Given the description of an element on the screen output the (x, y) to click on. 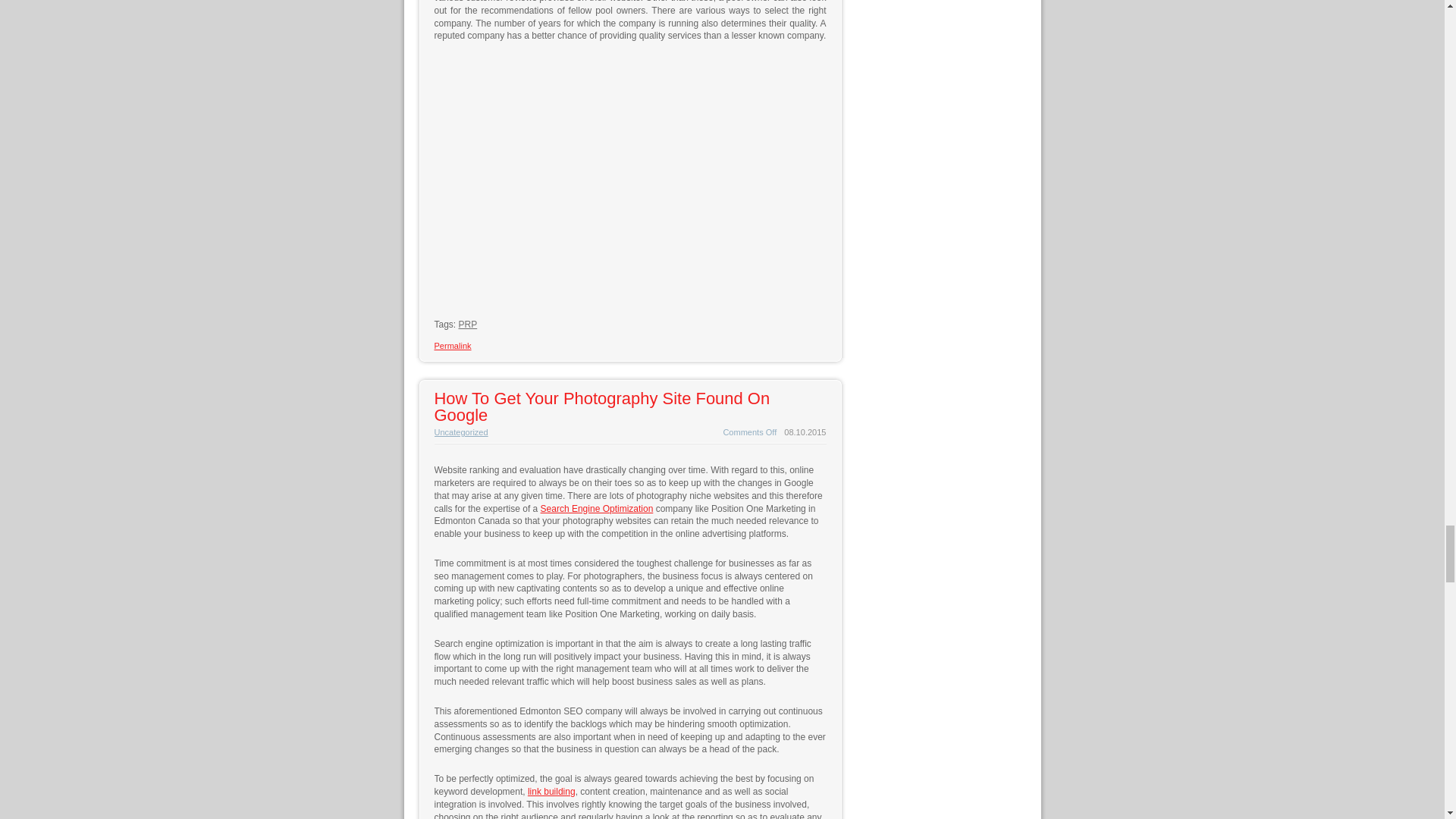
PRP (467, 324)
How To Get Your Photography Site Found On Google (601, 407)
Search Engine Optimization (596, 508)
link building (551, 791)
Uncategorized (460, 431)
Permalink (451, 345)
